Given the description of an element on the screen output the (x, y) to click on. 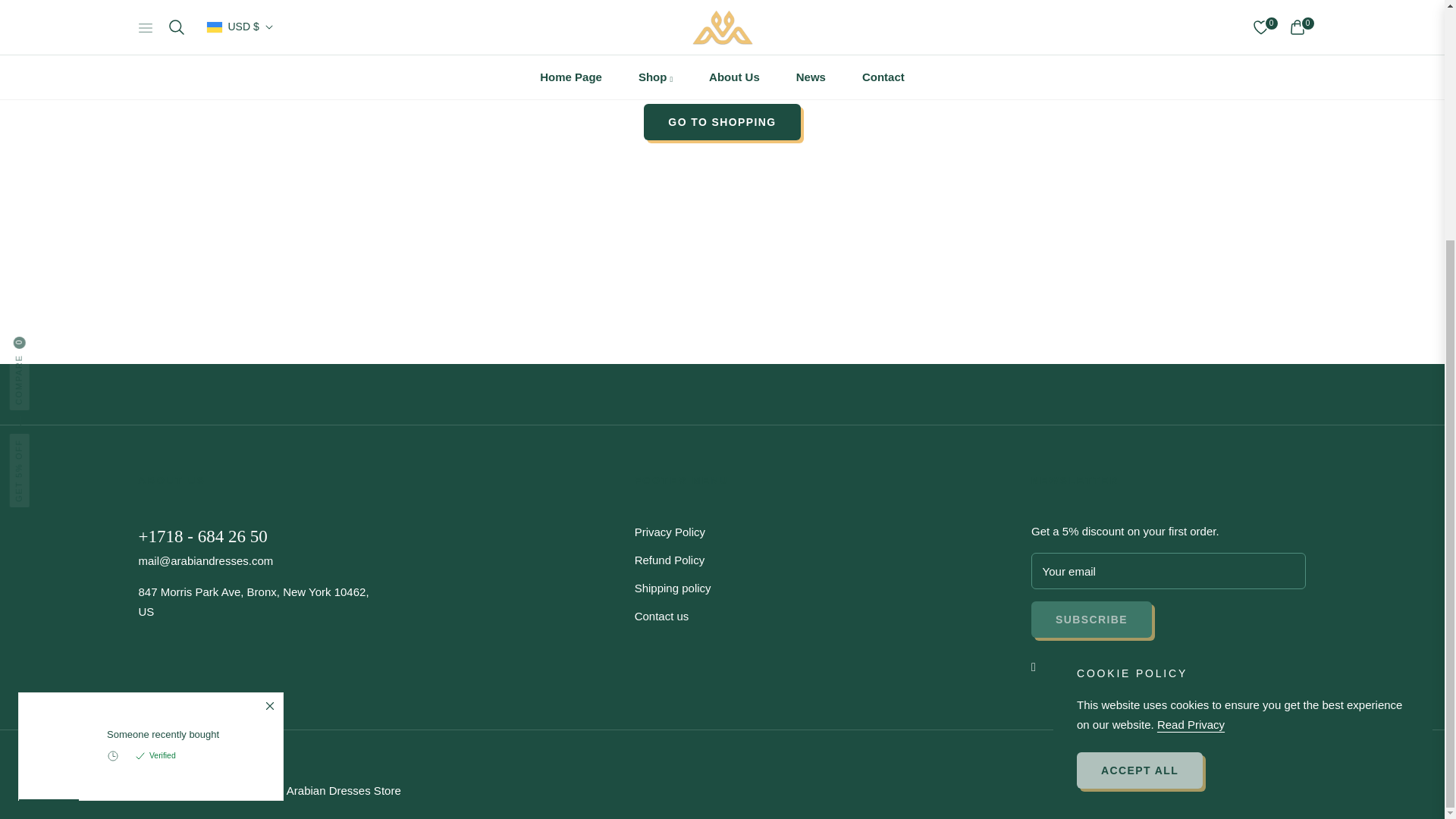
Close (269, 374)
Arabian Dresses on Tiktok (1131, 666)
Compare (49, 9)
Read Privacy (1190, 391)
